Given the description of an element on the screen output the (x, y) to click on. 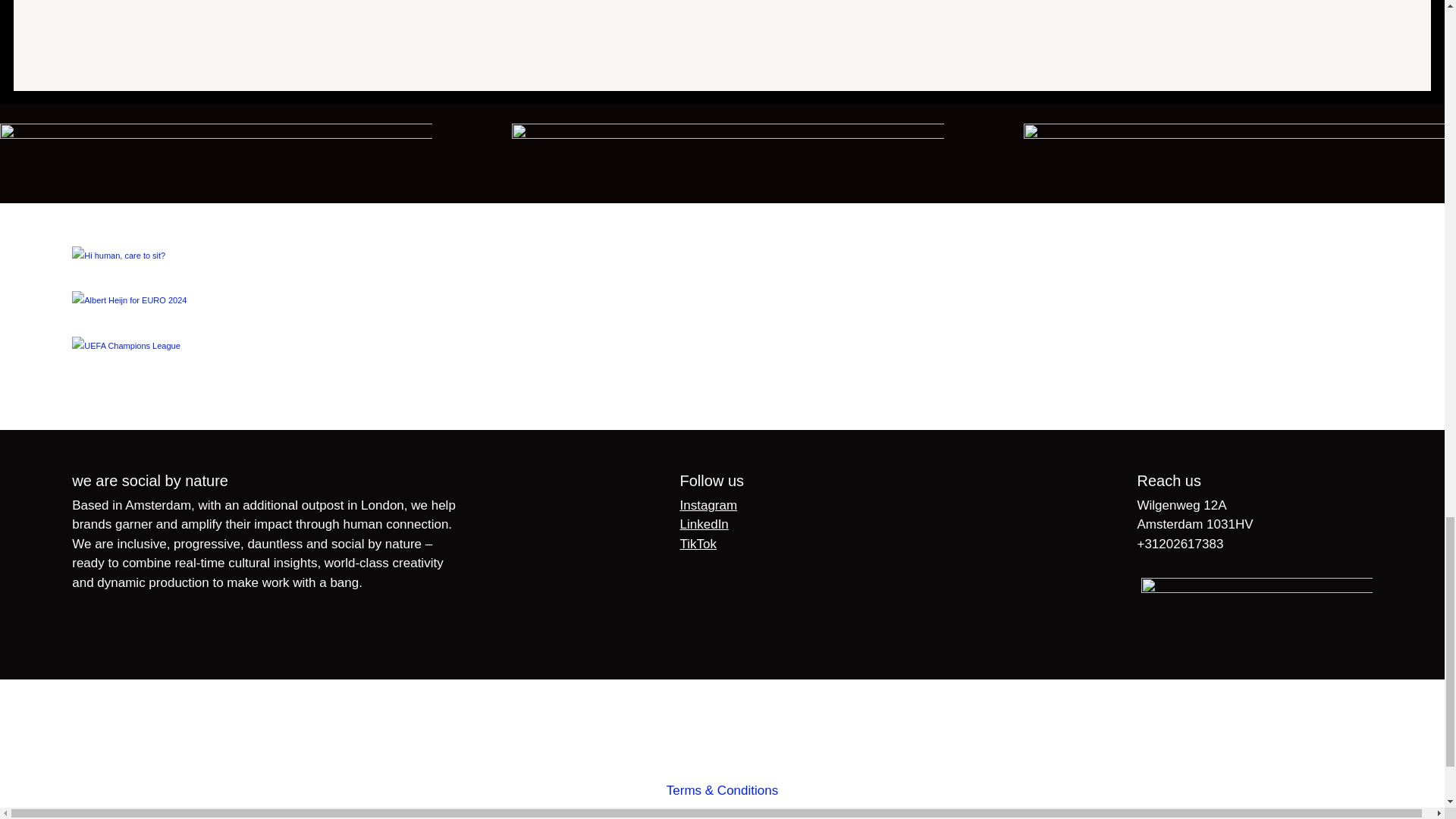
TikTok (698, 544)
LinkedIn (704, 523)
Albert Heijn for EURO 2024 (722, 319)
Instagram (708, 504)
UEFA Champions League (722, 363)
Hi human, care to sit? (721, 273)
